Given the description of an element on the screen output the (x, y) to click on. 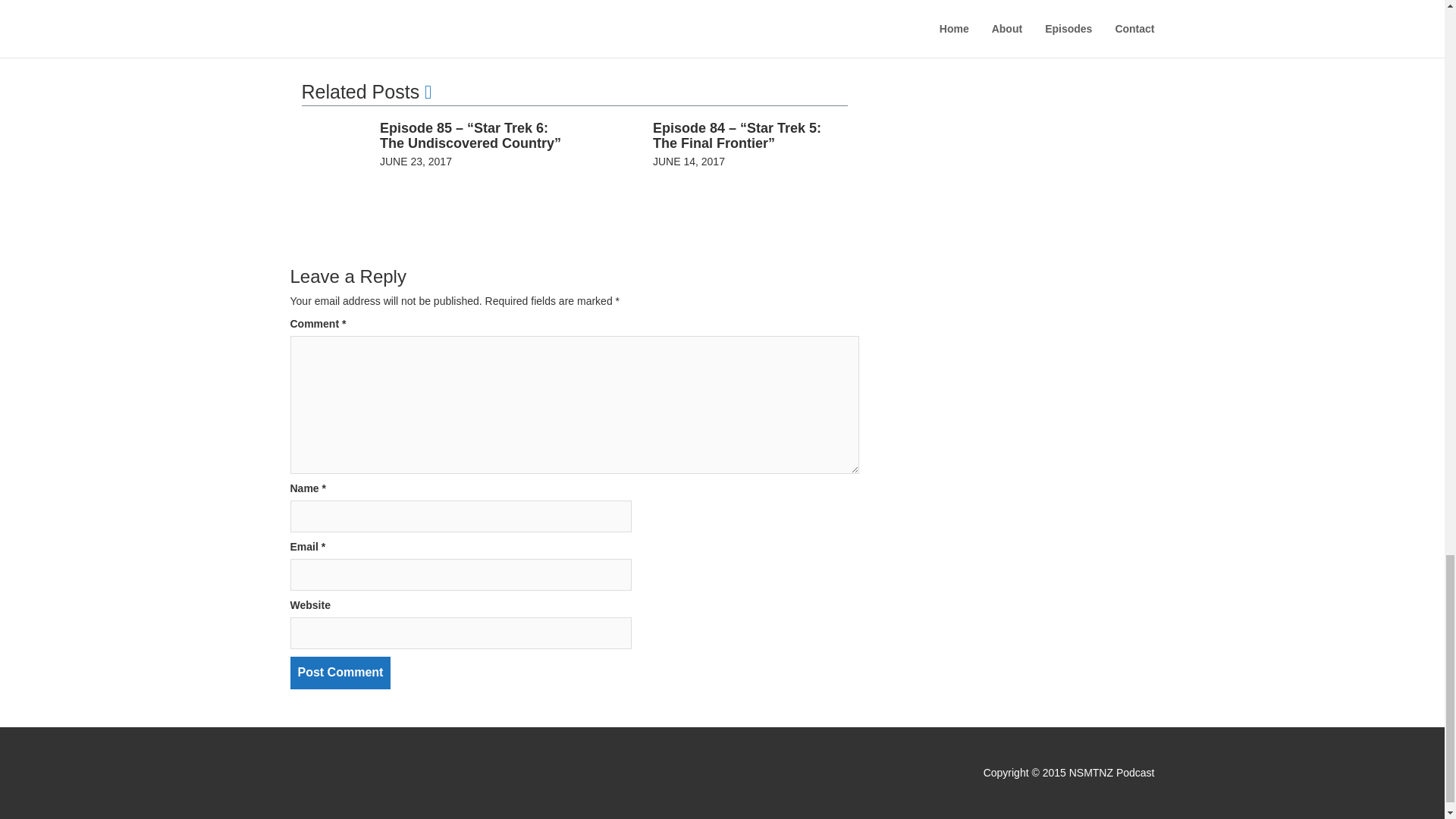
Post Comment (339, 672)
Post Comment (339, 672)
